Given the description of an element on the screen output the (x, y) to click on. 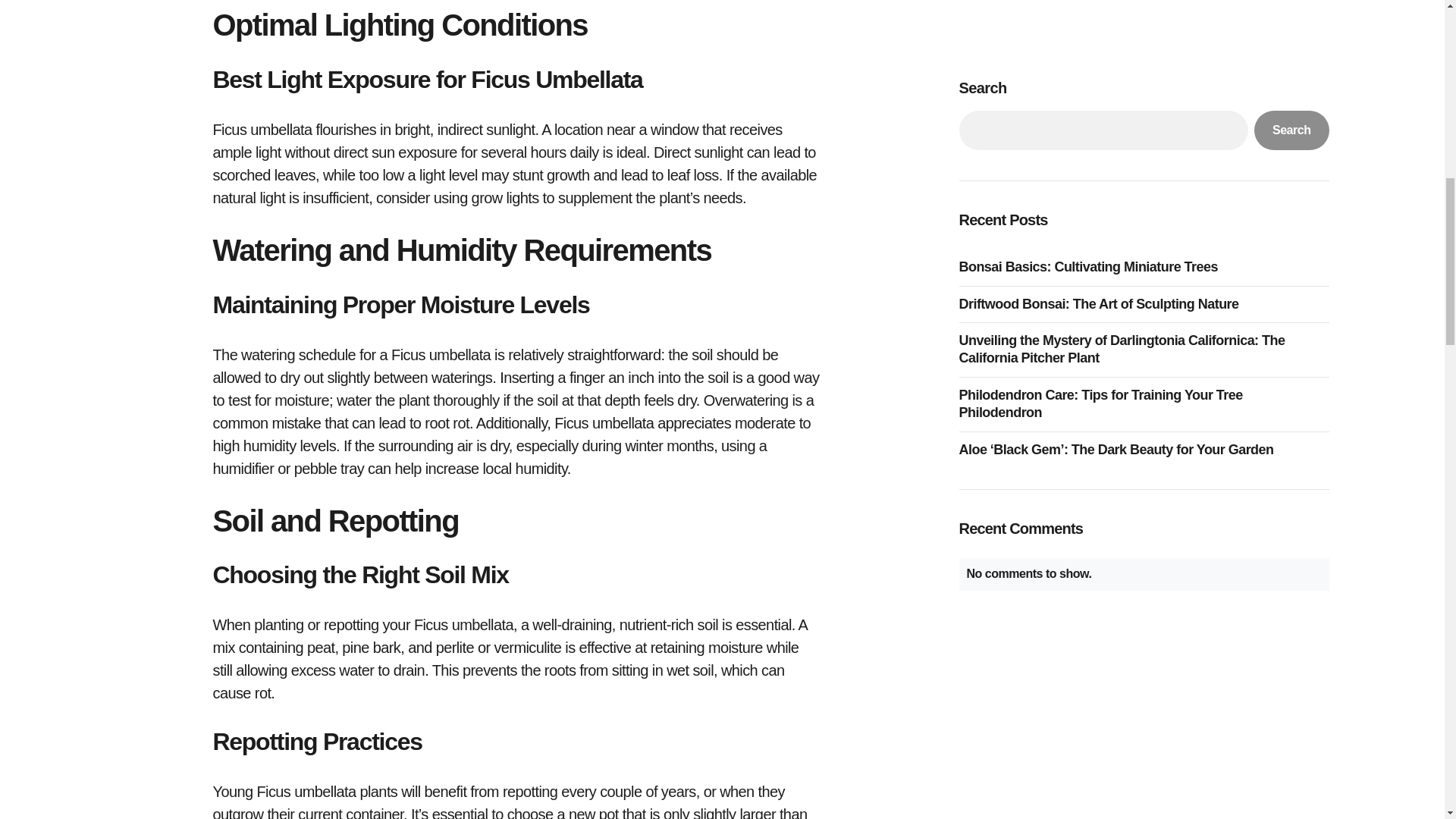
Philodendron Care: Tips for Training Your Tree Philodendron (1142, 94)
Driftwood Bonsai: The Art of Sculpting Nature (1102, 1)
